Given the description of an element on the screen output the (x, y) to click on. 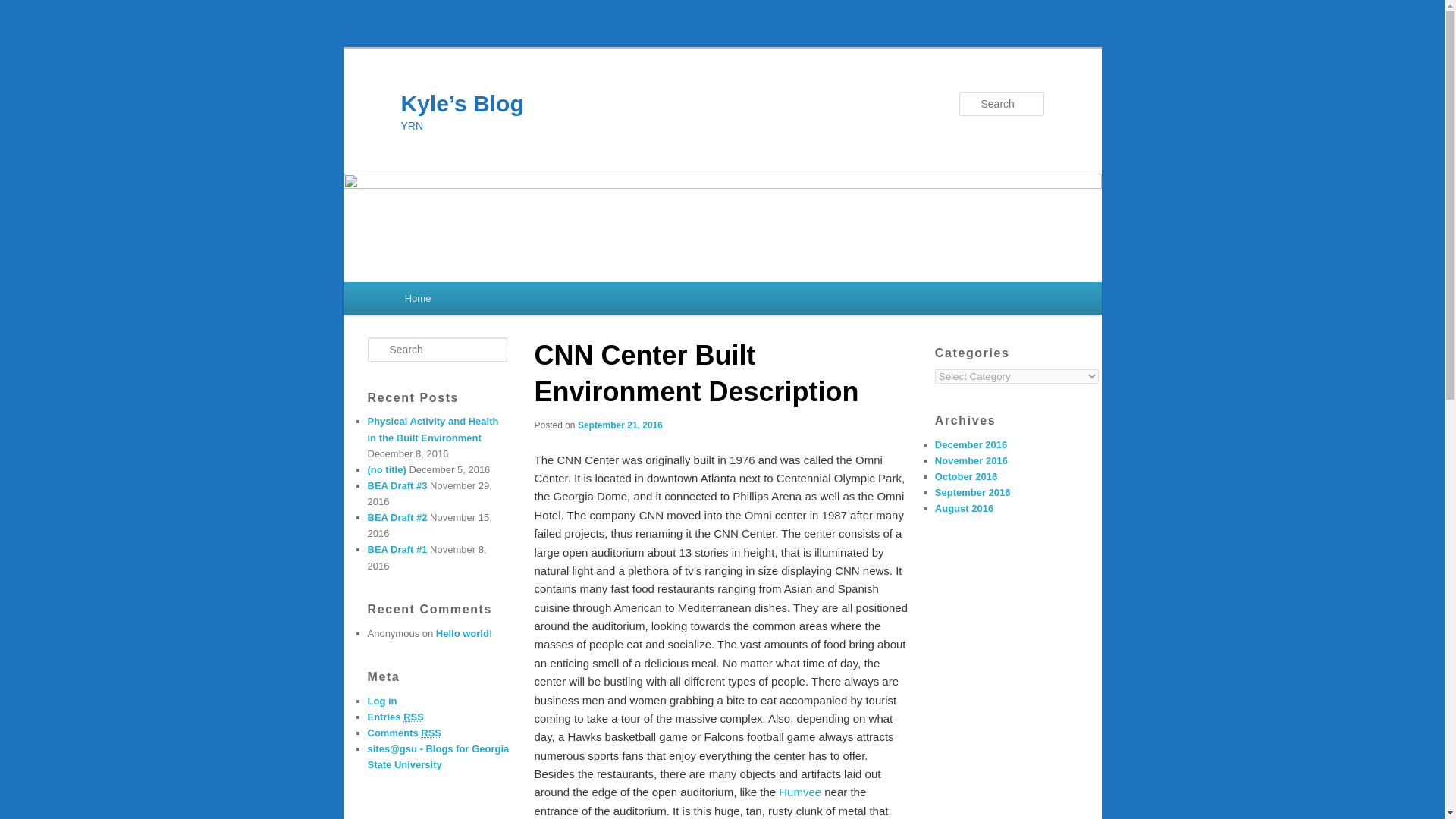
Search (21, 11)
August 2016 (963, 508)
Skip to primary content (472, 300)
Humvee (799, 791)
Entries RSS (394, 717)
Log in (381, 700)
December 2016 (970, 444)
The latest comments to all posts in RSS (403, 733)
Really Simple Syndication (413, 717)
Physical Activity and Health in the Built Environment (431, 429)
4:35 pm (620, 425)
Hello world! (463, 633)
October 2016 (965, 476)
Search (24, 8)
September 21, 2016 (620, 425)
